Given the description of an element on the screen output the (x, y) to click on. 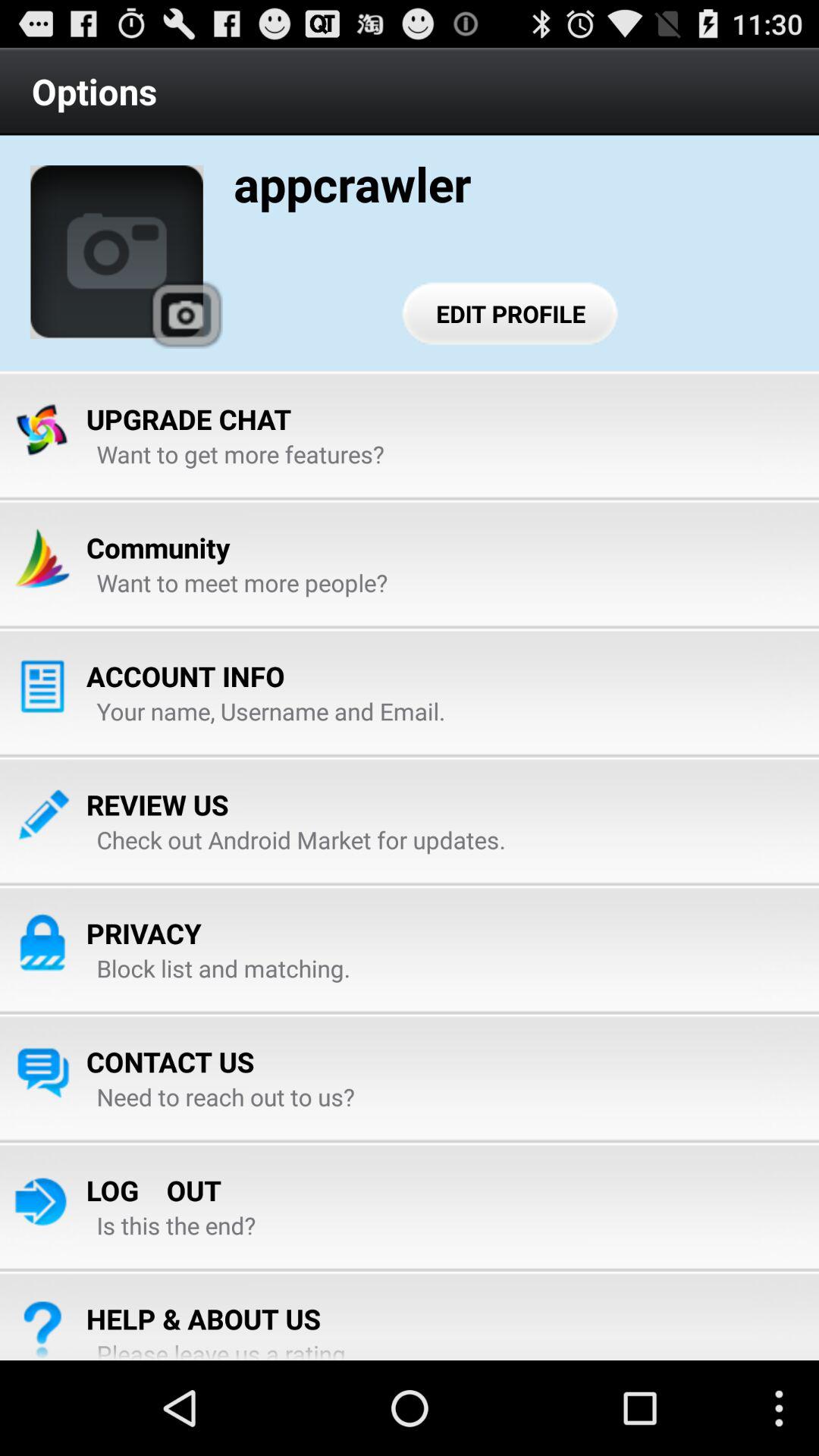
turn on the item above privacy item (300, 839)
